Given the description of an element on the screen output the (x, y) to click on. 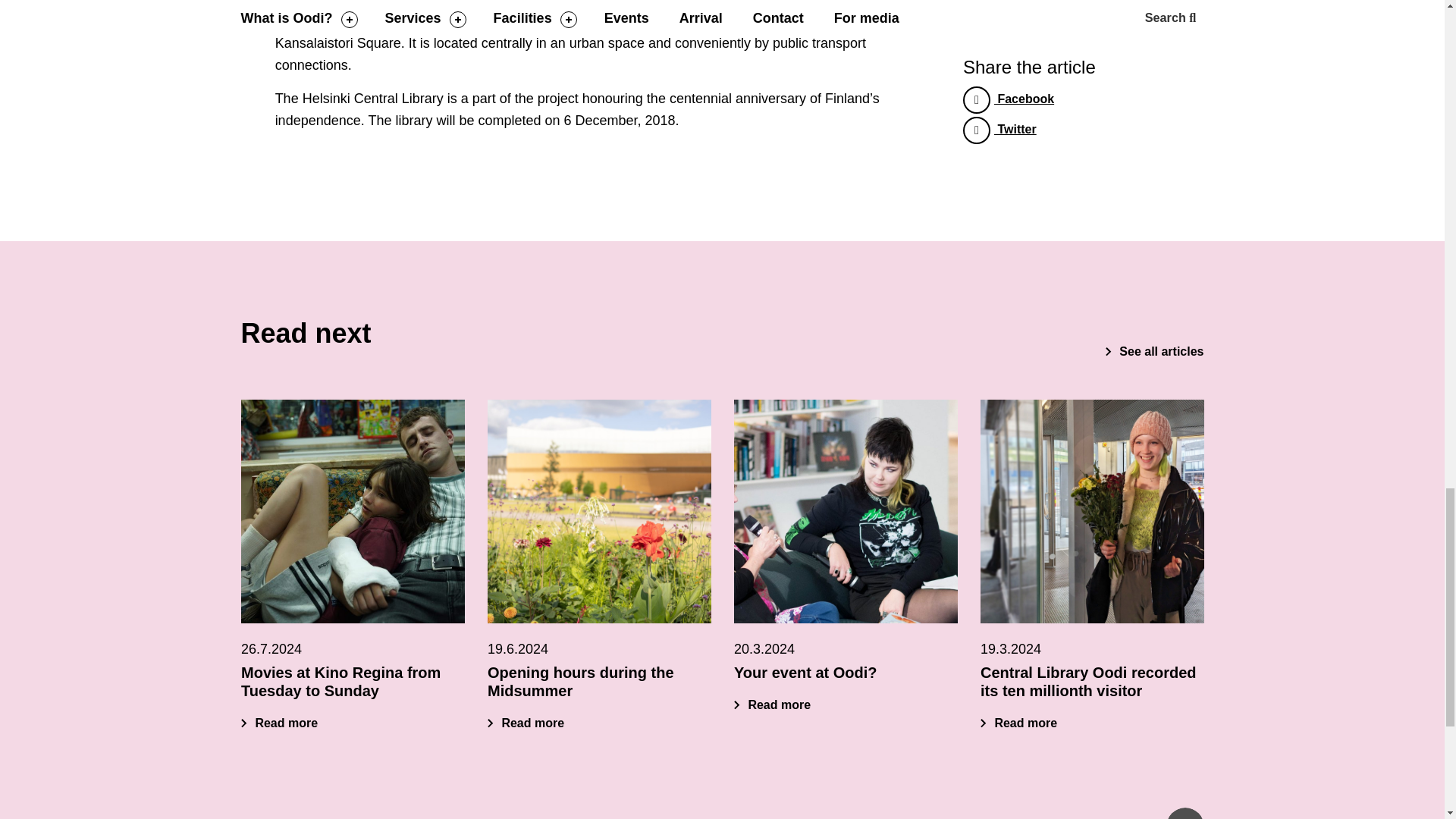
Your event at Oodi? (771, 705)
Your event at Oodi? (845, 511)
Movies at Kino Regina from Tuesday to Sunday (279, 723)
Your event at Oodi? (805, 672)
Movies at Kino Regina from Tuesday to Sunday (352, 511)
Central Library Oodi recorded its ten millionth visitor (1018, 723)
Opening hours during the Midsummer (579, 681)
Opening hours during the Midsummer (598, 511)
Opening hours during the Midsummer (524, 723)
Central Library Oodi recorded its ten millionth visitor (1087, 681)
